Given the description of an element on the screen output the (x, y) to click on. 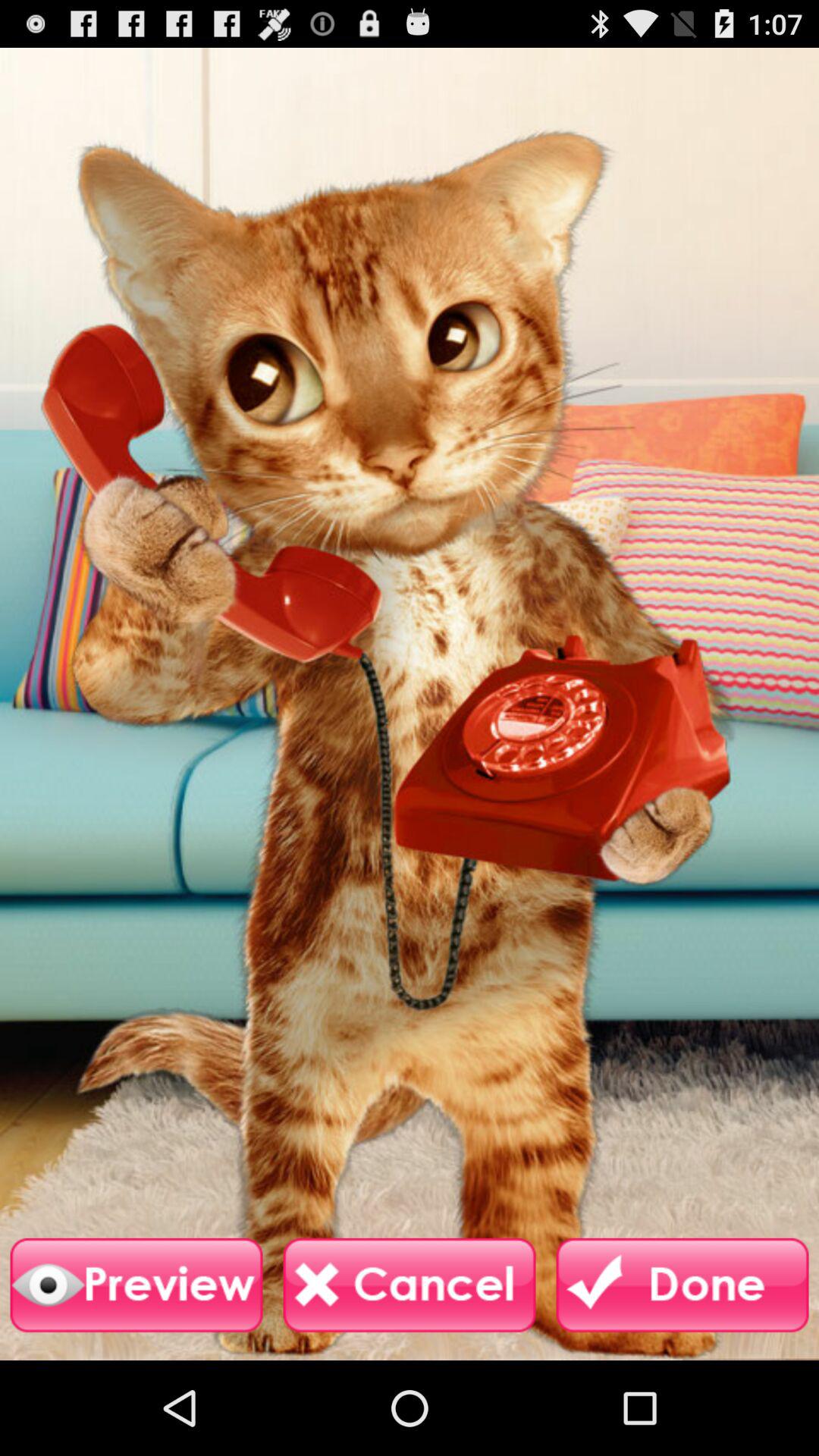
cancel request (409, 1285)
